Given the description of an element on the screen output the (x, y) to click on. 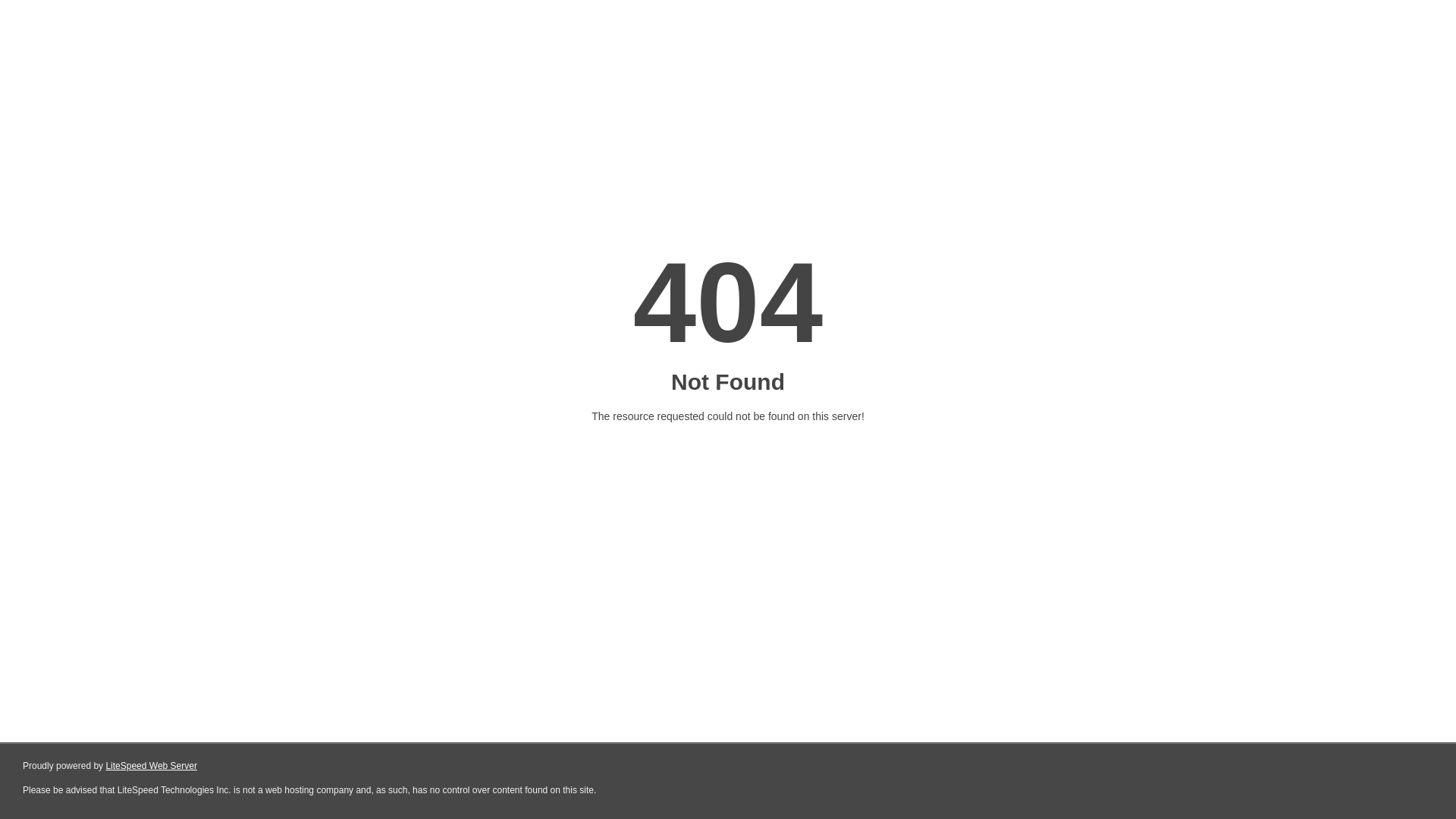
LiteSpeed Web Server Element type: text (151, 765)
